Given the description of an element on the screen output the (x, y) to click on. 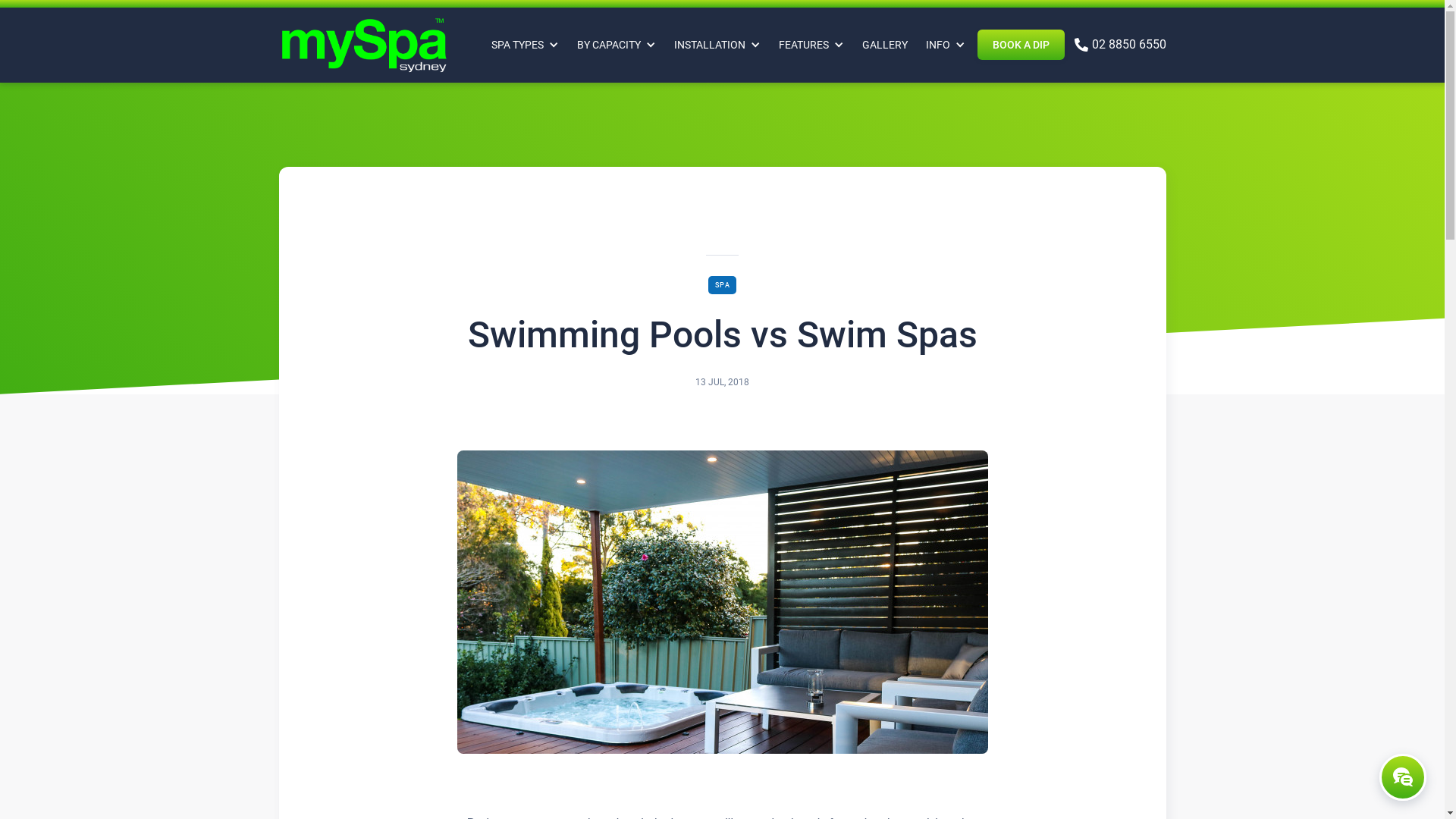
BOOK A DIP Element type: text (1019, 44)
SPA Element type: text (722, 284)
GALLERY Element type: text (883, 35)
